Given the description of an element on the screen output the (x, y) to click on. 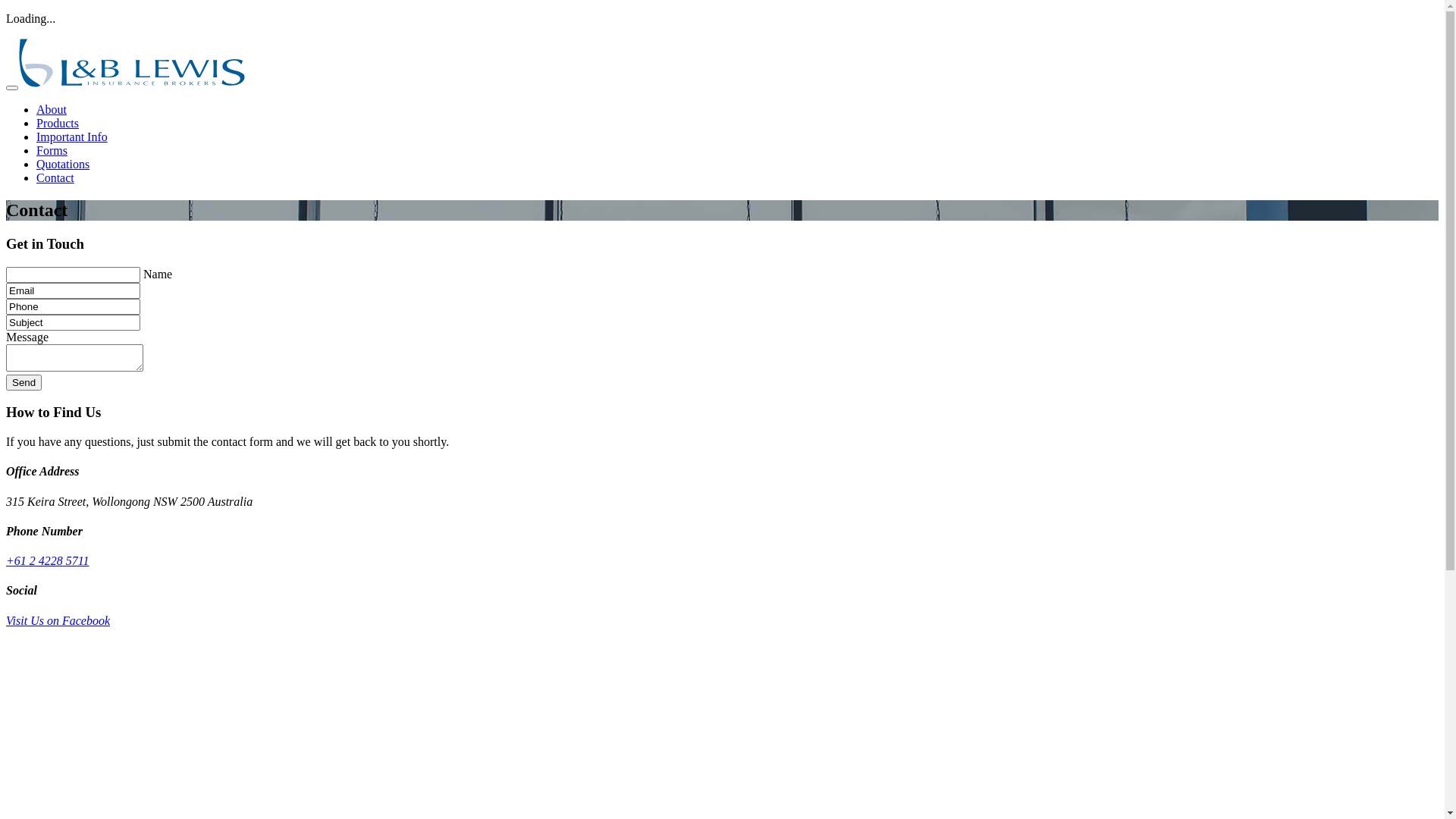
Send Element type: text (23, 382)
+61 2 4228 5711 Element type: text (47, 560)
Products Element type: text (57, 122)
About Element type: text (51, 109)
Contact Element type: text (55, 177)
Important Info Element type: text (71, 136)
Forms Element type: text (51, 150)
Visit Us on Facebook Element type: text (57, 620)
Quotations Element type: text (62, 163)
